Given the description of an element on the screen output the (x, y) to click on. 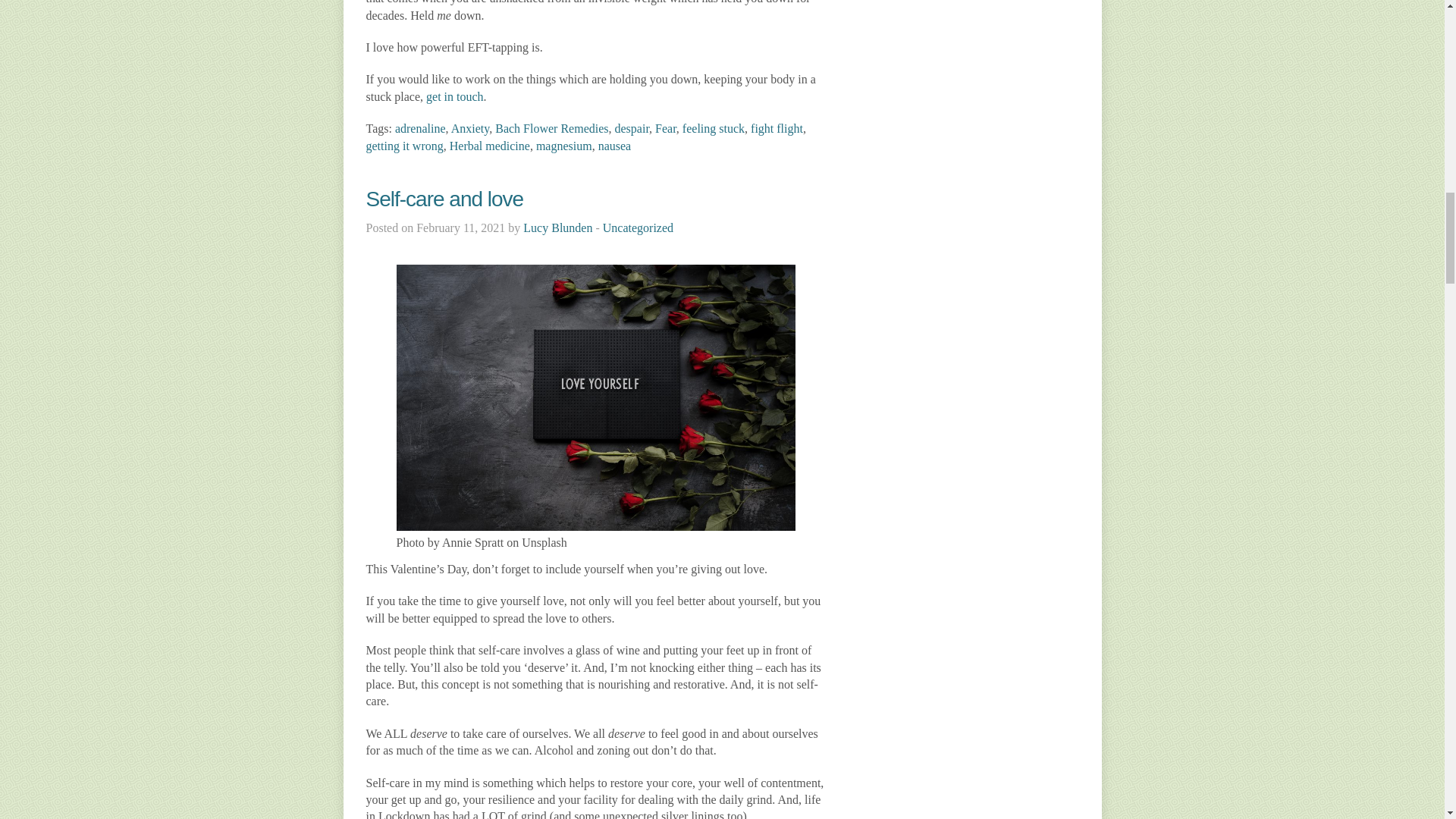
Fear (666, 128)
fight flight (777, 128)
getting it wrong (403, 145)
Posts by Lucy Blunden (557, 227)
get in touch (454, 96)
feeling stuck (713, 128)
Herbal medicine (489, 145)
Self-care and love (443, 198)
Uncategorized (637, 227)
adrenaline (419, 128)
magnesium (563, 145)
Lucy Blunden (557, 227)
Self-care and love (443, 198)
Anxiety (470, 128)
nausea (614, 145)
